Given the description of an element on the screen output the (x, y) to click on. 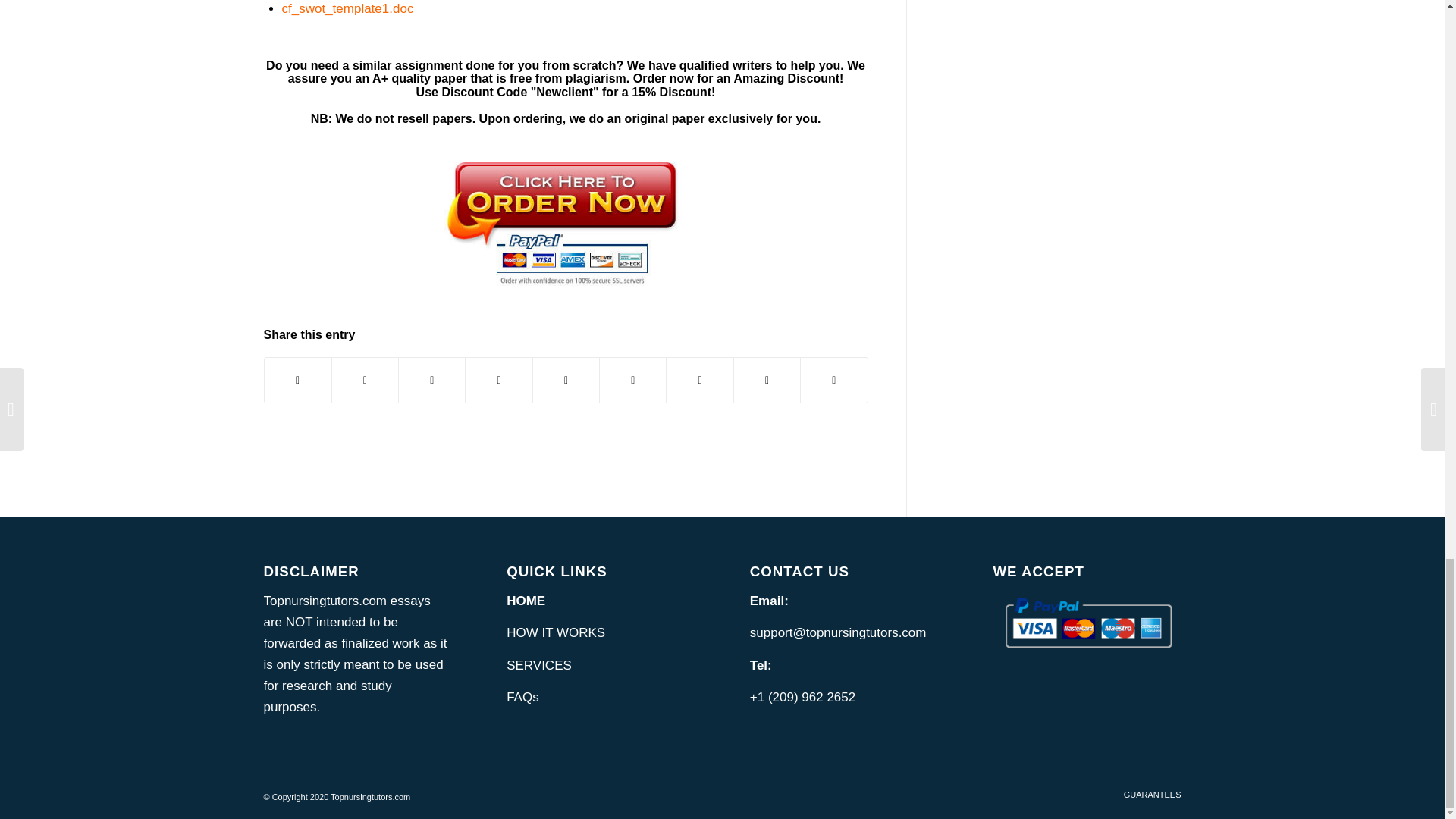
HOW IT WORKS (555, 632)
GUARANTEES (1152, 794)
FAQs (522, 697)
HOME (525, 600)
SERVICES (539, 665)
